Given the description of an element on the screen output the (x, y) to click on. 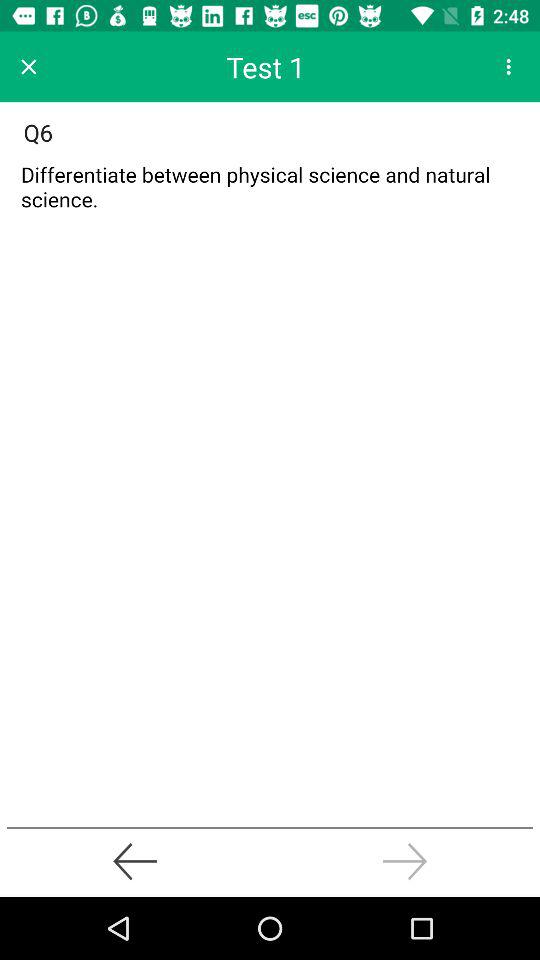
close option (28, 66)
